Given the description of an element on the screen output the (x, y) to click on. 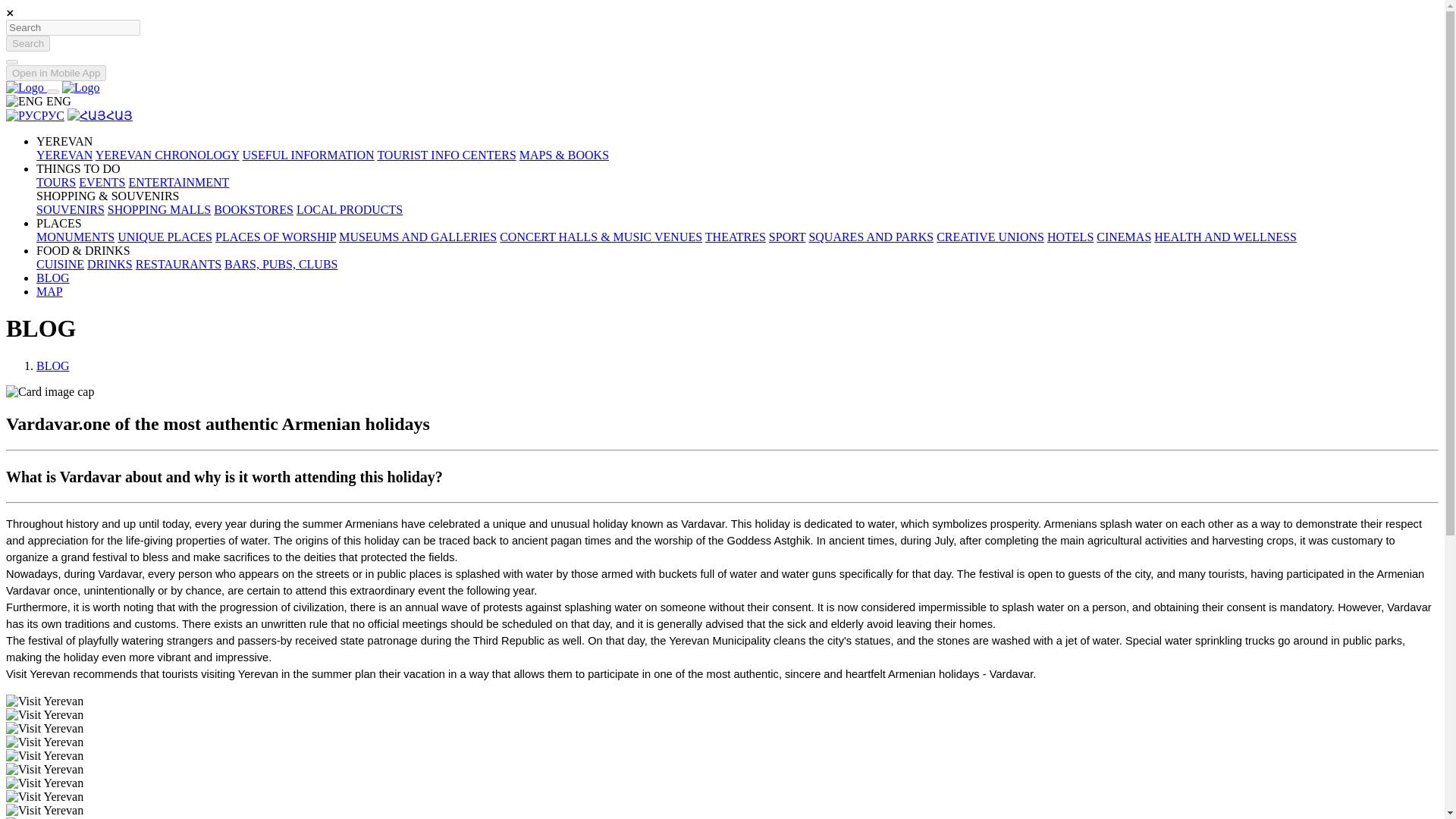
SQUARES AND PARKS (870, 236)
YEREVAN (64, 154)
Open in Mobile App (55, 73)
YEREVAN CHRONOLOGY (168, 154)
EVENTS (101, 182)
YEREVAN (64, 141)
HEALTH AND WELLNESS (1225, 236)
SPORT (787, 236)
MONUMENTS (75, 236)
SHOPPING MALLS (159, 209)
MUSEUMS AND GALLERIES (417, 236)
USEFUL INFORMATION (308, 154)
CREATIVE UNIONS (989, 236)
Search (27, 43)
ENG (38, 101)
